Given the description of an element on the screen output the (x, y) to click on. 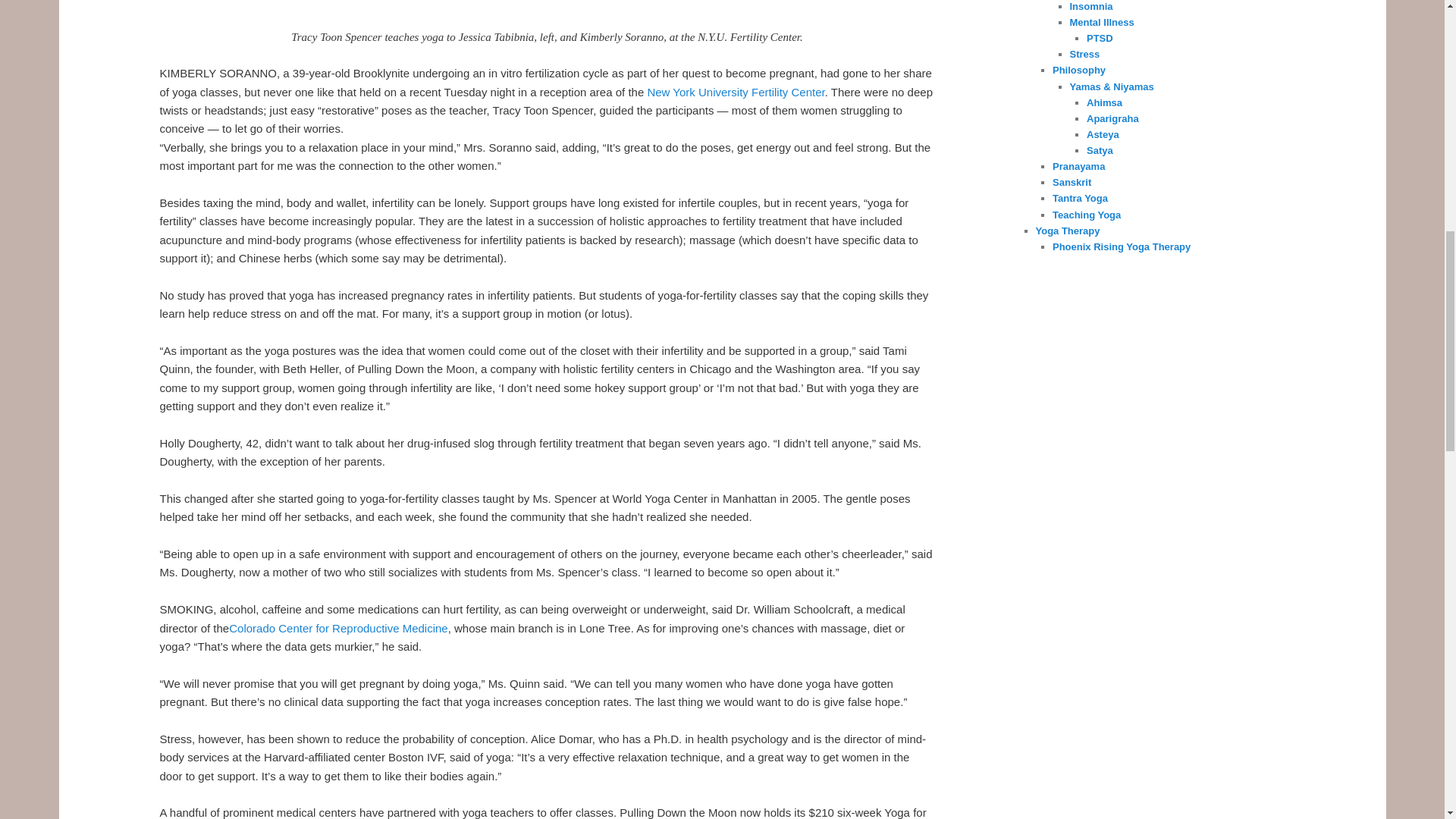
New York University Fertility Center (735, 91)
The Web site for Colorado Center for Reproductive Medicine. (337, 627)
The Web site for New York University Fertility Center. (735, 91)
Colorado Center for Reproductive Medicine (337, 627)
